Given the description of an element on the screen output the (x, y) to click on. 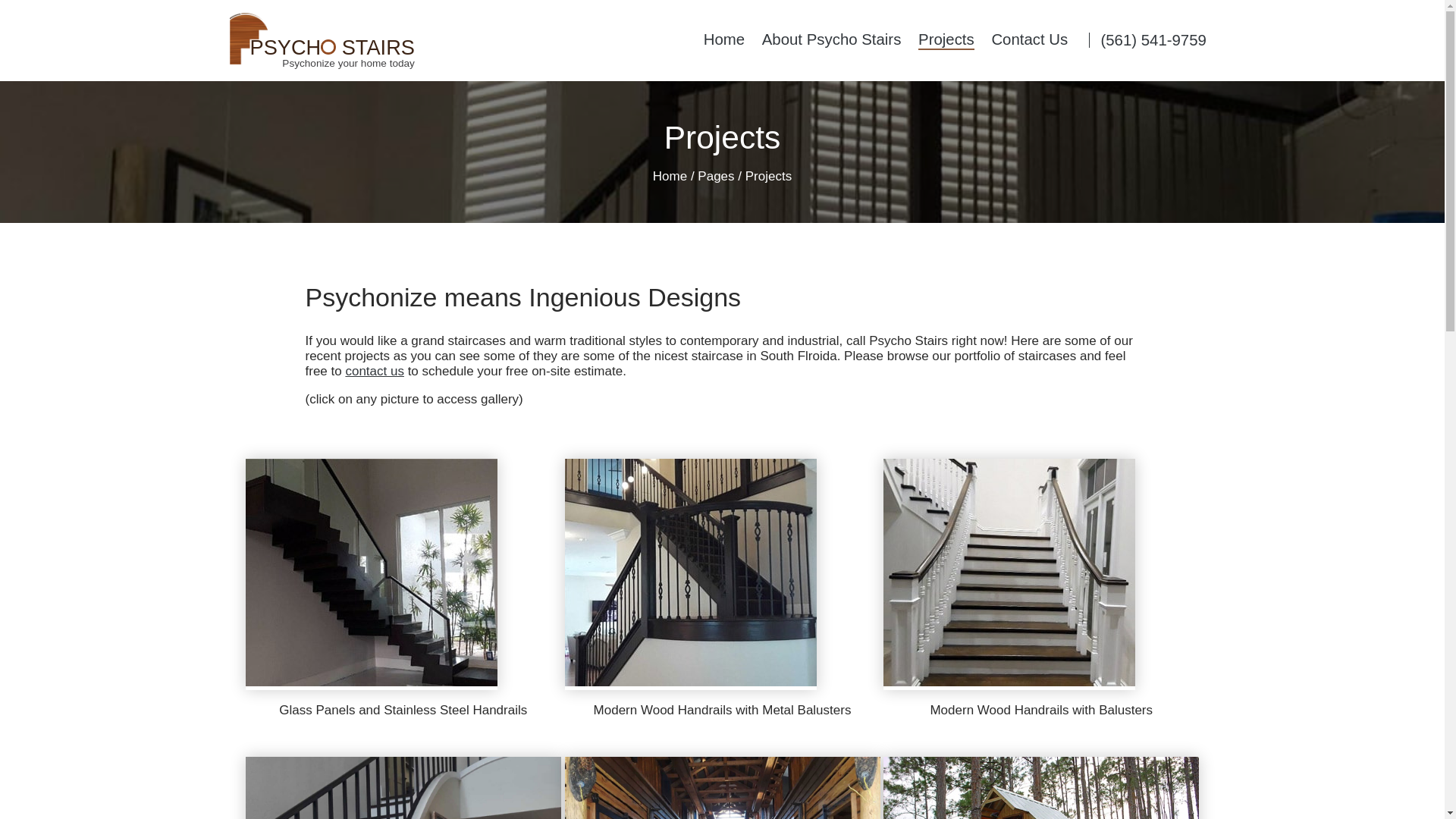
Pages (715, 175)
contact us (374, 370)
Home (723, 39)
Glass Panels and Stainless Steel Handrails (352, 40)
Modern Wood Handrails with Metal Balusters (403, 709)
About Psycho Stairs (722, 709)
Projects (831, 39)
Modern Wood Handrails with Balusters (946, 39)
Home (1041, 709)
Contact Us (669, 175)
